Given the description of an element on the screen output the (x, y) to click on. 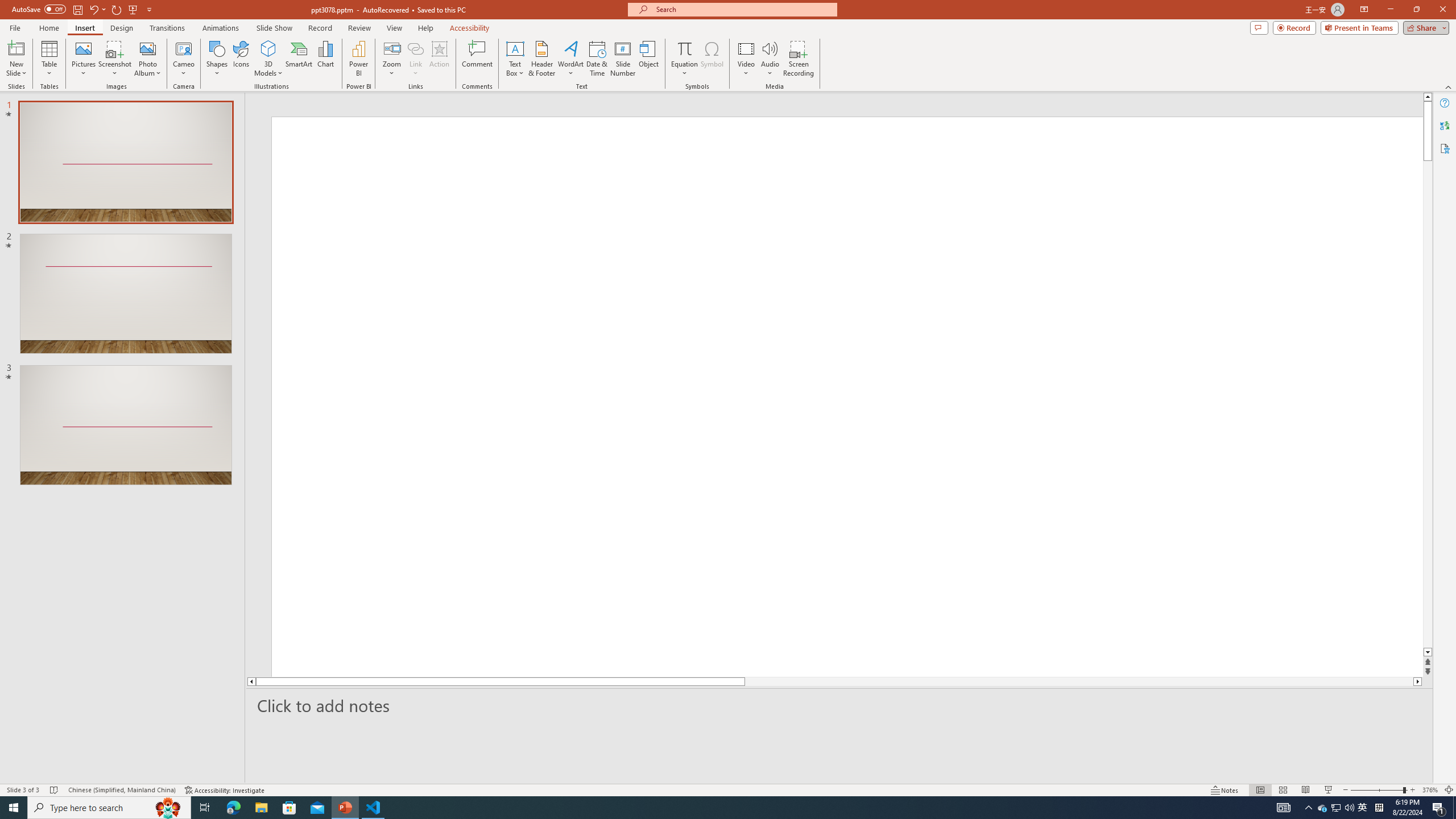
Symbol... (711, 58)
New Photo Album... (147, 48)
Link (415, 58)
Object... (649, 58)
